Given the description of an element on the screen output the (x, y) to click on. 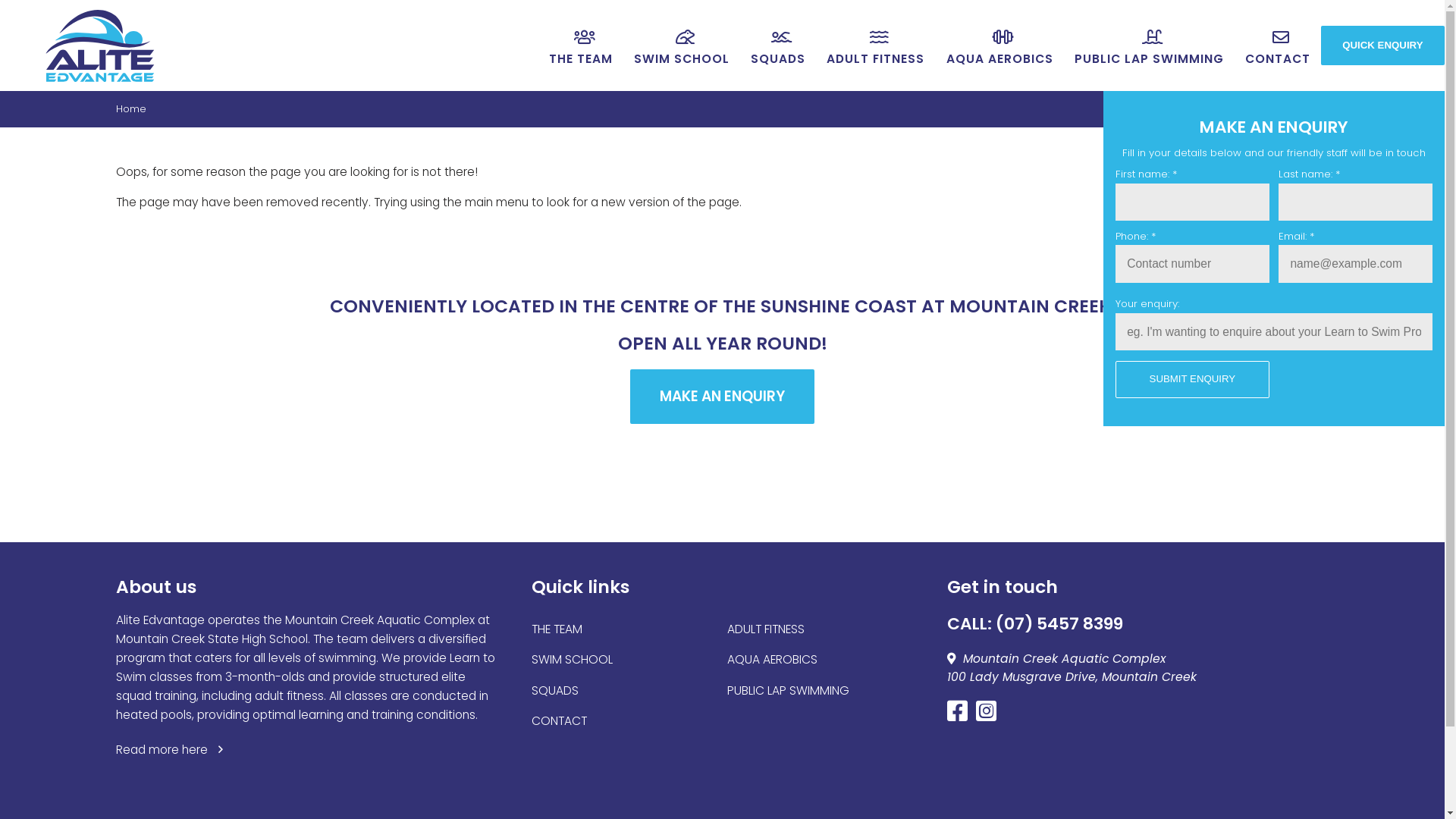
Alite Edvantage on Facebook Element type: hover (960, 715)
SQUADS Element type: text (778, 45)
THE TEAM Element type: text (556, 629)
AQUA AEROBICS Element type: text (999, 45)
SWIM SCHOOL Element type: text (682, 45)
Alite Edvantage on Instagram Element type: hover (988, 715)
ADULT FITNESS Element type: text (765, 629)
AQUA AEROBICS Element type: text (772, 659)
MAKE AN ENQUIRY Element type: text (722, 396)
ADULT FITNESS Element type: text (876, 45)
Home Element type: text (130, 108)
SQUADS Element type: text (554, 690)
CONTACT Element type: text (558, 720)
Submit Enquiry Element type: text (1192, 379)
QUICK ENQUIRY Element type: text (1382, 45)
Alite Edvantage Element type: hover (99, 45)
Read more here Element type: text (170, 749)
PUBLIC LAP SWIMMING Element type: text (788, 690)
SWIM SCHOOL Element type: text (571, 659)
CALL: (07) 5457 8399 Element type: text (1035, 623)
PUBLIC LAP SWIMMING Element type: text (1149, 45)
CONTACT Element type: text (1277, 45)
THE TEAM Element type: text (580, 45)
